Given the description of an element on the screen output the (x, y) to click on. 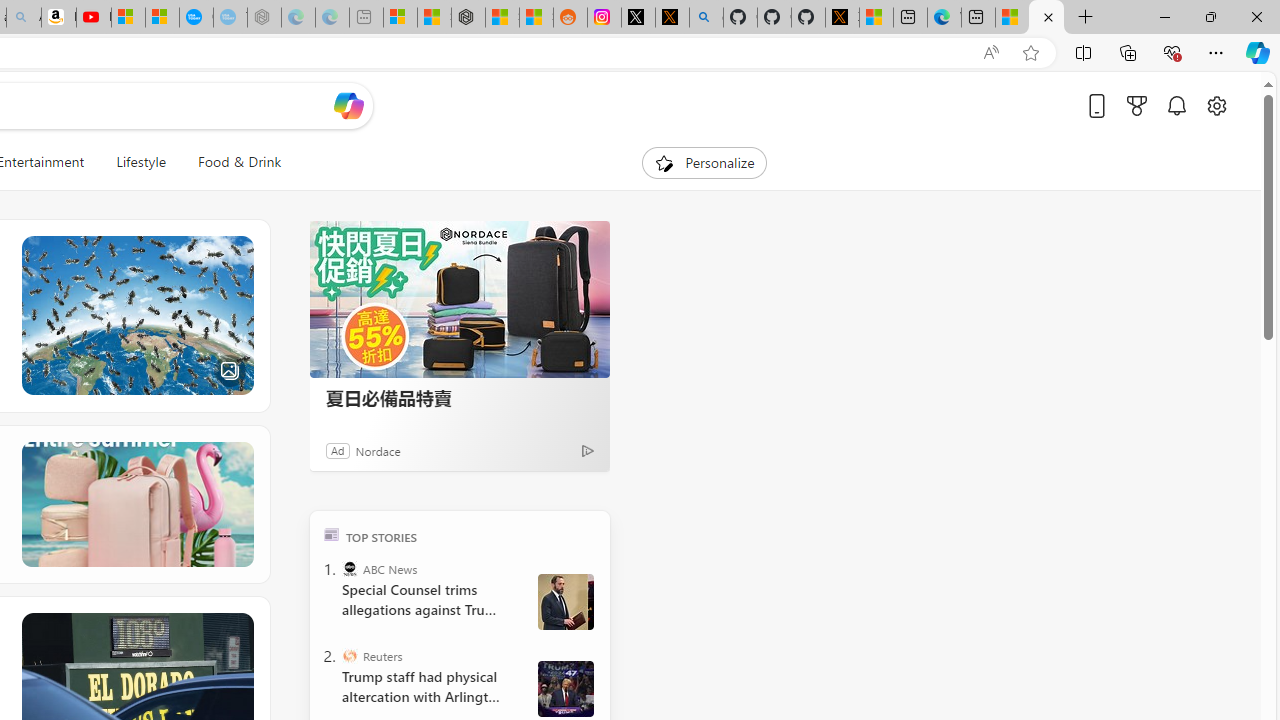
Log in to X / X (638, 17)
help.x.com | 524: A timeout occurred (671, 17)
Lifestyle (141, 162)
TOP (331, 534)
Nordace - Duffels (468, 17)
Microsoft account | Microsoft Account Privacy Settings (400, 17)
Shanghai, China Weather trends | Microsoft Weather (535, 17)
